Given the description of an element on the screen output the (x, y) to click on. 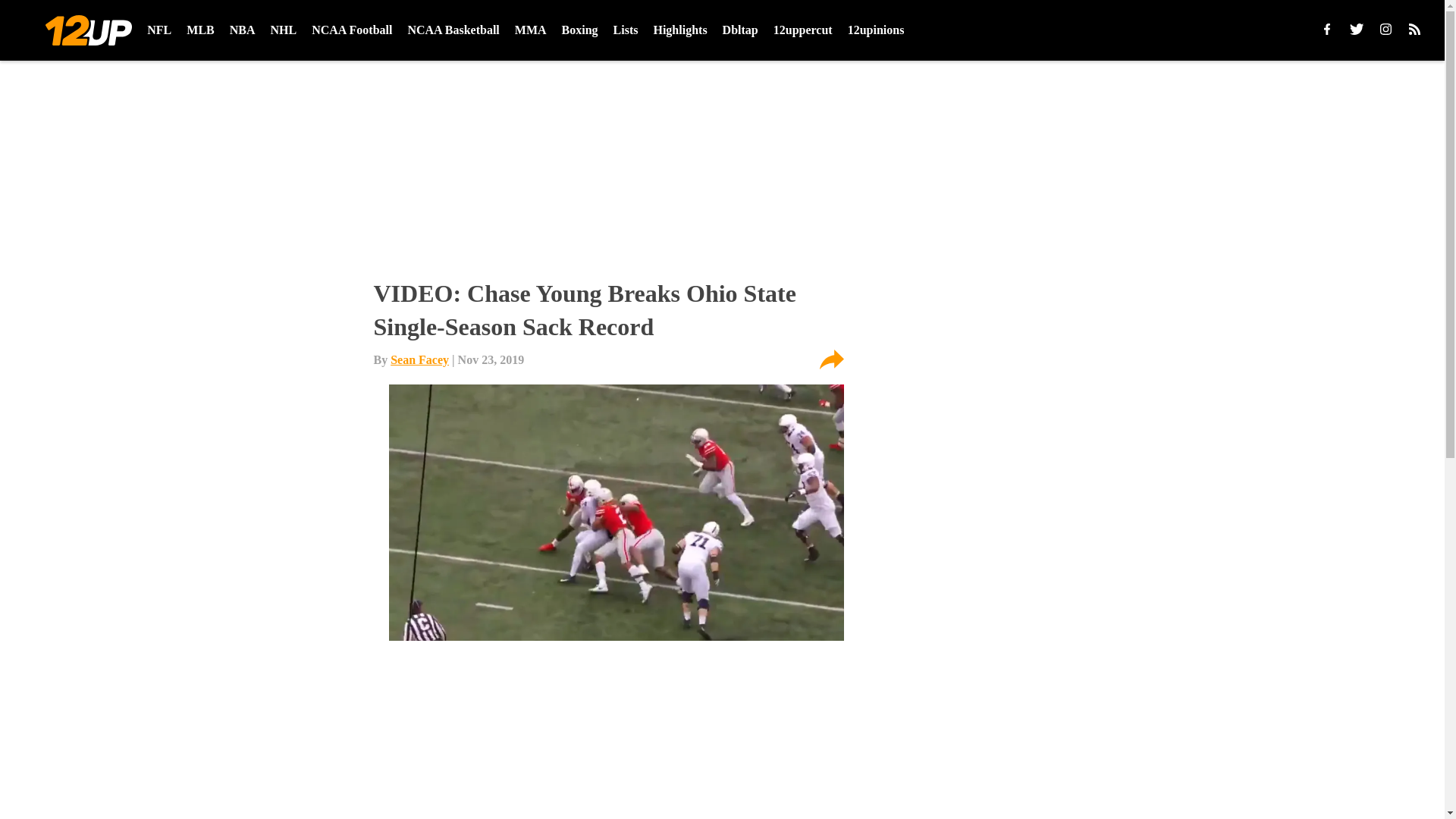
Boxing (580, 30)
NFL (159, 30)
NHL (283, 30)
NCAA Football (351, 30)
MMA (531, 30)
Sean Facey (419, 359)
NCAA Basketball (453, 30)
12uppercut (802, 30)
Dbltap (740, 30)
Lists (625, 30)
NBA (243, 30)
MLB (200, 30)
12upinions (875, 30)
Highlights (679, 30)
